Given the description of an element on the screen output the (x, y) to click on. 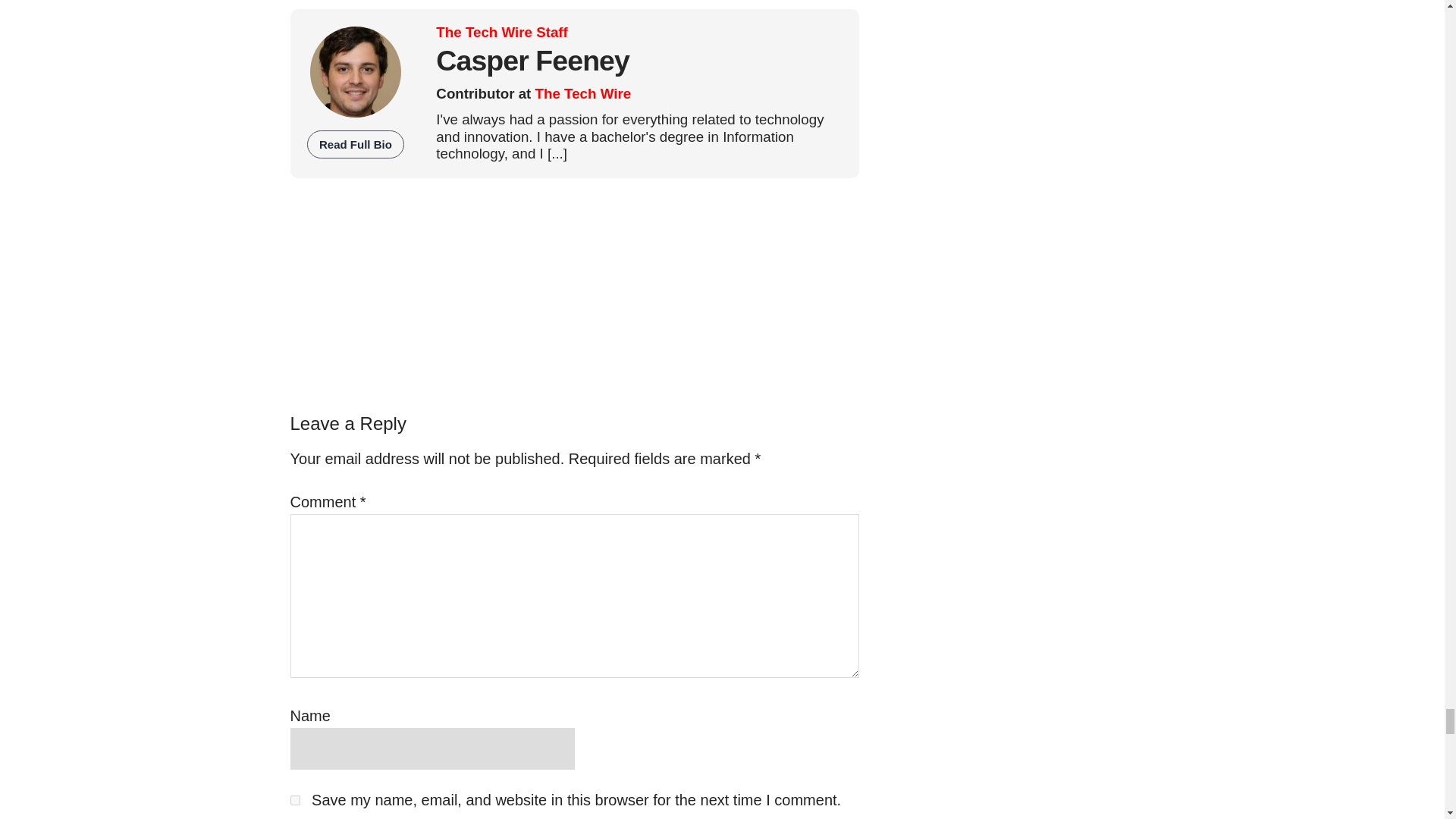
yes (294, 800)
